Given the description of an element on the screen output the (x, y) to click on. 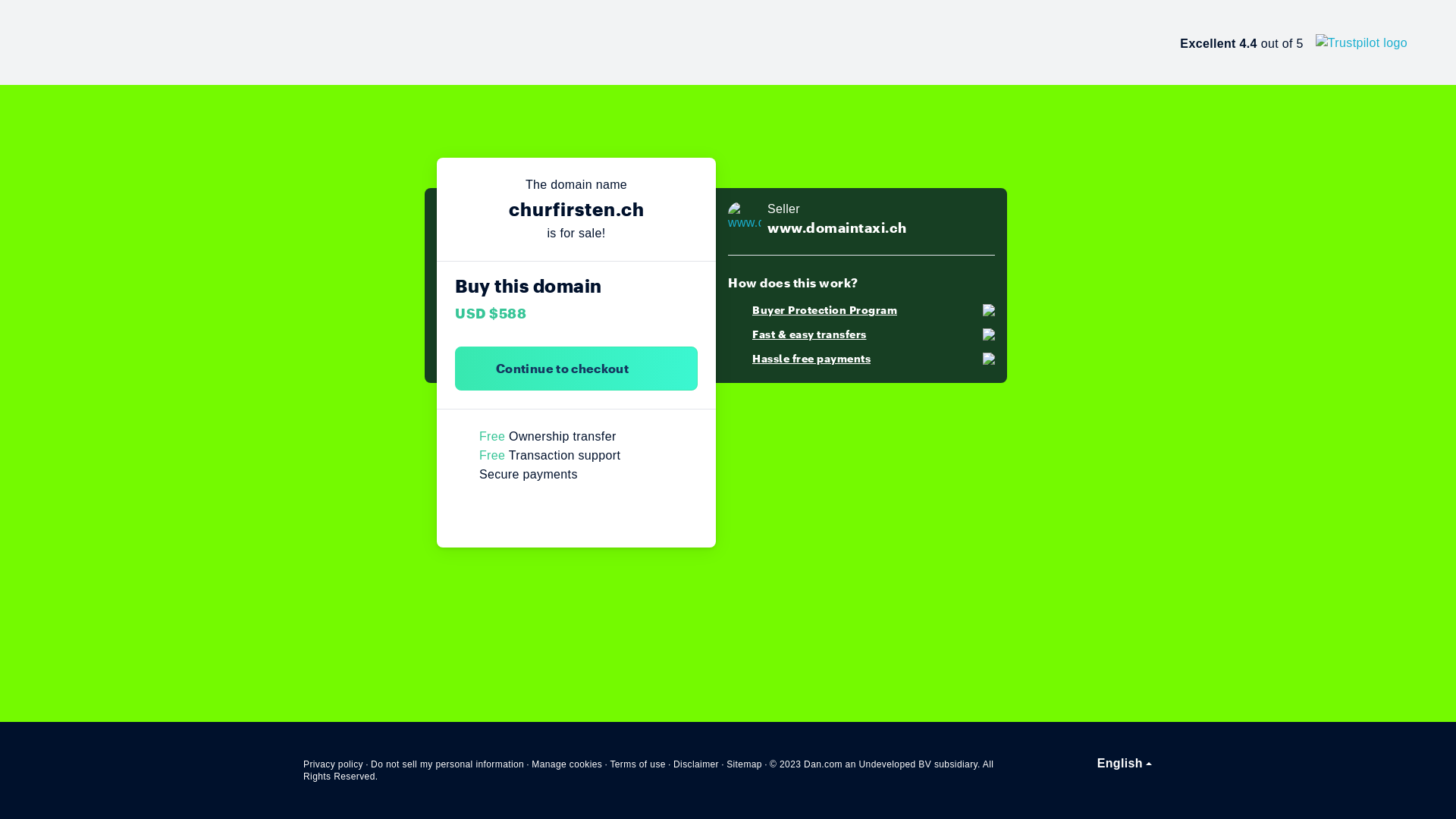
Disclaimer Element type: text (695, 764)
Do not sell my personal information Element type: text (447, 764)
Terms of use Element type: text (637, 764)
English Element type: text (1124, 763)
Sitemap Element type: text (744, 764)
Manage cookies Element type: text (566, 764)
Excellent 4.4 out of 5 Element type: text (1293, 42)
Continue to checkout
) Element type: text (576, 368)
Privacy policy Element type: text (333, 764)
